Given the description of an element on the screen output the (x, y) to click on. 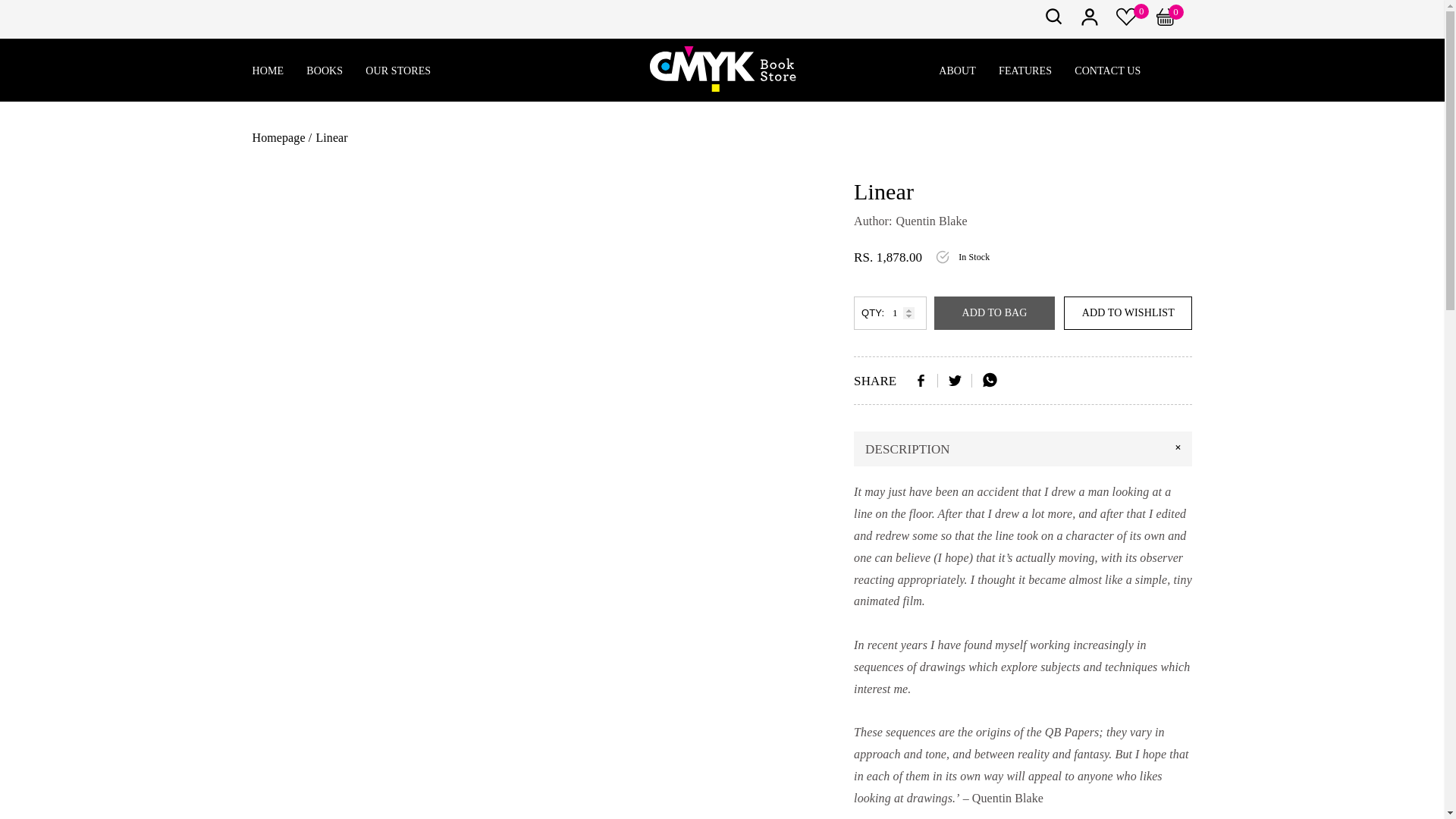
HOME (267, 70)
1 (889, 313)
BOOKS (323, 70)
0 (1126, 21)
0 (1174, 21)
